Given the description of an element on the screen output the (x, y) to click on. 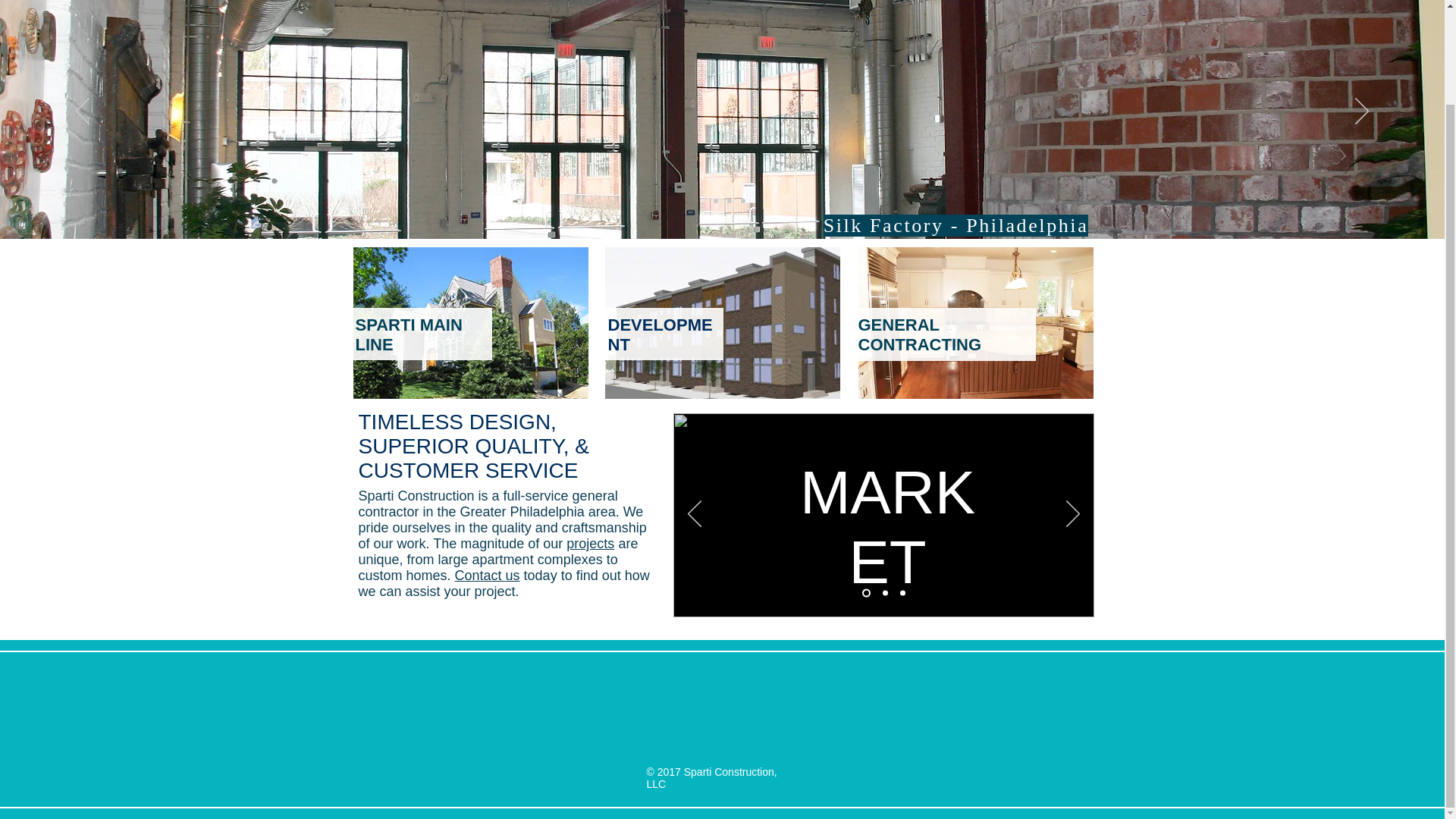
general contracting main line.jpg (976, 322)
custom home gladwyne pa.jpg (470, 322)
sparti construction riverview court.jpg (722, 322)
